Given the description of an element on the screen output the (x, y) to click on. 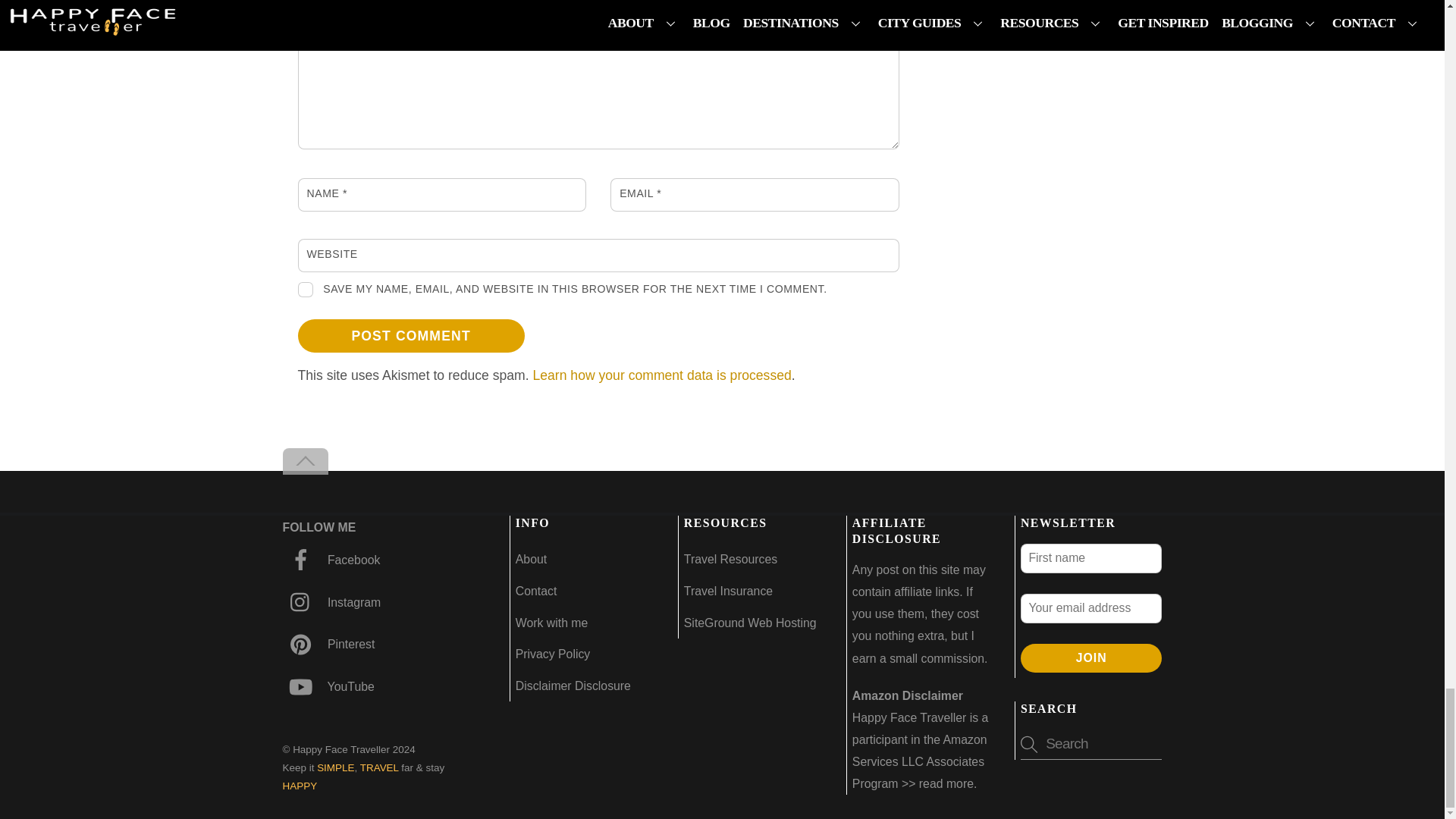
yes (305, 289)
Post Comment (410, 335)
Join (1090, 658)
